Given the description of an element on the screen output the (x, y) to click on. 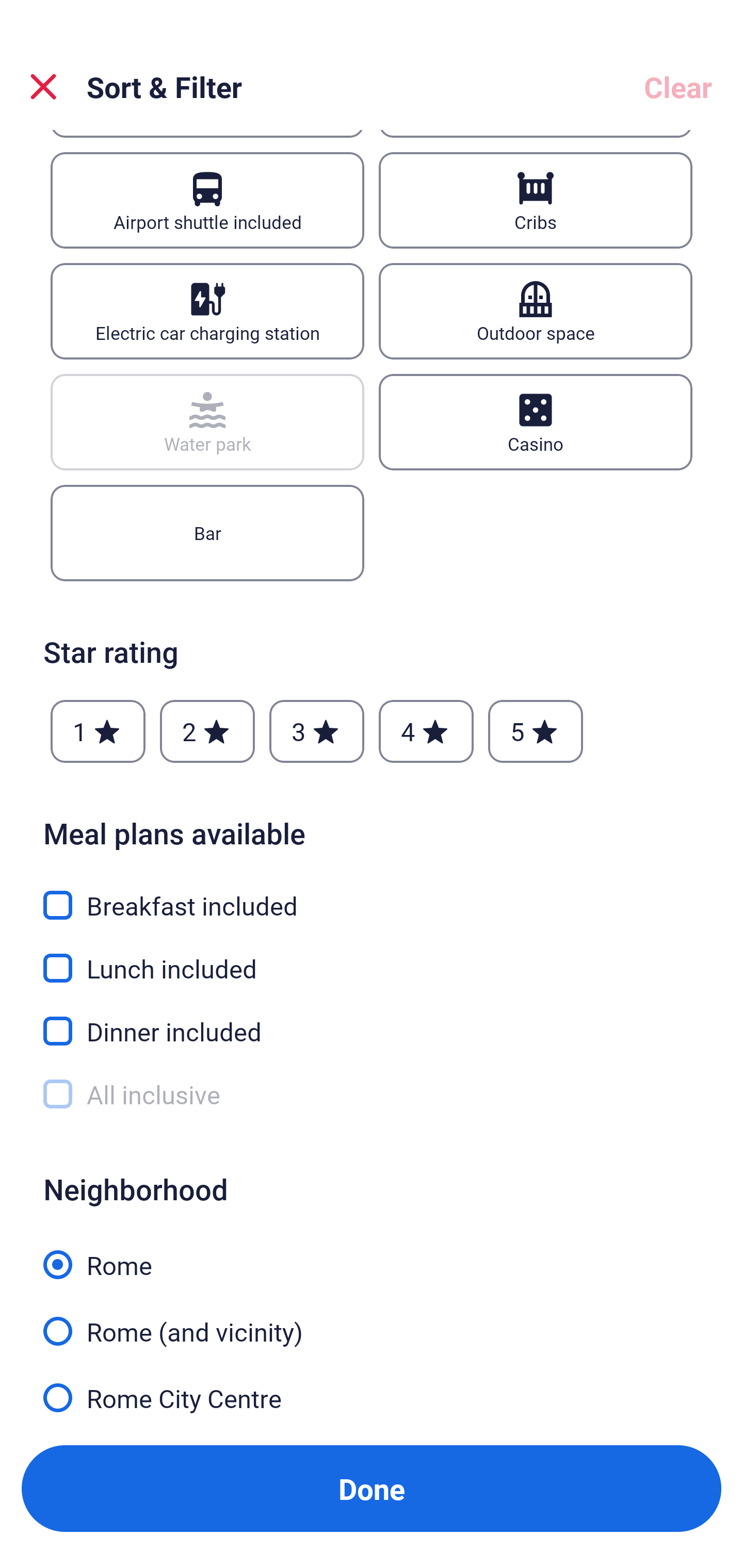
Close Sort and Filter (43, 86)
Clear (677, 86)
Airport shuttle included (207, 200)
Cribs (535, 200)
Electric car charging station (207, 311)
Outdoor space (535, 311)
Water park (207, 421)
Casino (535, 421)
Bar (207, 532)
1 (97, 731)
2 (206, 731)
3 (316, 731)
4 (426, 731)
5 (535, 731)
Breakfast included, Breakfast included (371, 893)
Lunch included, Lunch included (371, 956)
Dinner included, Dinner included (371, 1018)
All inclusive, All inclusive (371, 1094)
Rome (and vicinity) (371, 1320)
Rome City Centre (371, 1396)
Apply and close Sort and Filter Done (371, 1488)
